Given the description of an element on the screen output the (x, y) to click on. 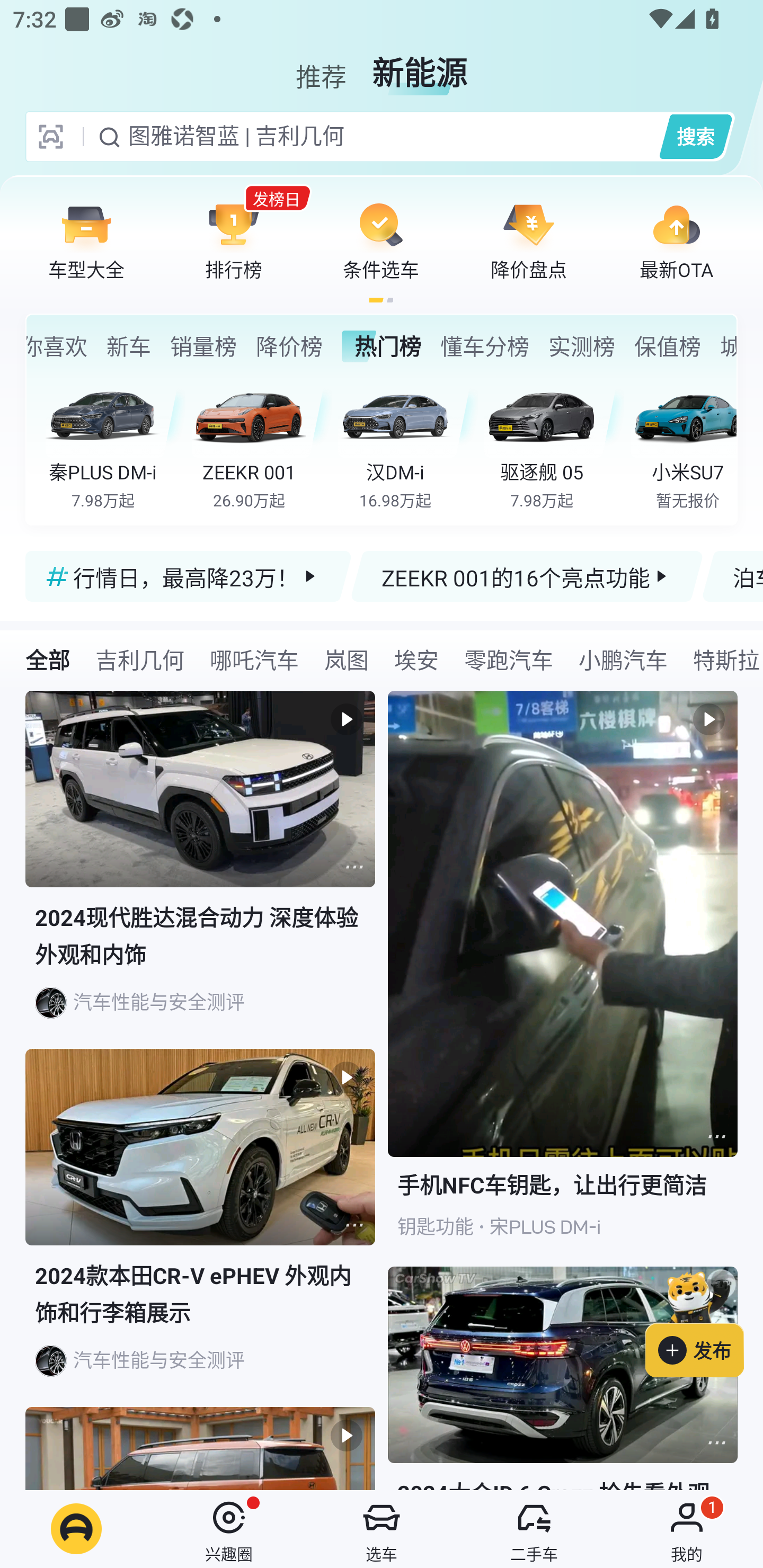
推荐 (321, 65)
新能源 (419, 65)
搜索 (695, 136)
车型大全 (86, 240)
发榜日 排行榜 (233, 240)
条件选车 (380, 240)
降价盘点 (528, 240)
最新OTA (676, 240)
猜你喜欢 (56, 346)
新车 (128, 346)
销量榜 (203, 346)
降价榜 (288, 346)
热门榜 (381, 346)
懂车分榜 (484, 346)
实测榜 (581, 346)
保值榜 (667, 346)
秦PLUS DM-i 7.98万起 (115, 442)
ZEEKR 001 26.90万起 (261, 442)
汉DM-i 16.98万起 (407, 442)
驱逐舰 05 7.98万起 (554, 442)
小米SU7 暂无报价 (683, 442)
行情日，最高降23万！ (188, 576)
ZEEKR 001的16个亮点功能 (526, 576)
全部 (47, 659)
吉利几何 (139, 659)
哪吒汽车 (253, 659)
岚图 (346, 659)
埃安 (416, 659)
零跑汽车 (508, 659)
小鹏汽车 (623, 659)
特斯拉 (721, 659)
  2024现代胜达混合动力 深度体验外观和内饰 汽车性能与安全测评 (200, 869)
  手机NFC车钥匙，让出行更简洁 钥匙功能 宋PLUS DM-i (562, 978)
 (354, 867)
  2024款本田CR-V ePHEV 外观内饰和行李箱展示 汽车性能与安全测评 (200, 1227)
 (716, 1136)
宋PLUS DM-i (545, 1226)
 (354, 1224)
发布 (704, 1320)
  2024大众ID.6 Crozz 抢先看外观和内饰 (562, 1377)
 (716, 1442)
 兴趣圈 (228, 1528)
 选车 (381, 1528)
 二手车 (533, 1528)
 我的 (686, 1528)
